Given the description of an element on the screen output the (x, y) to click on. 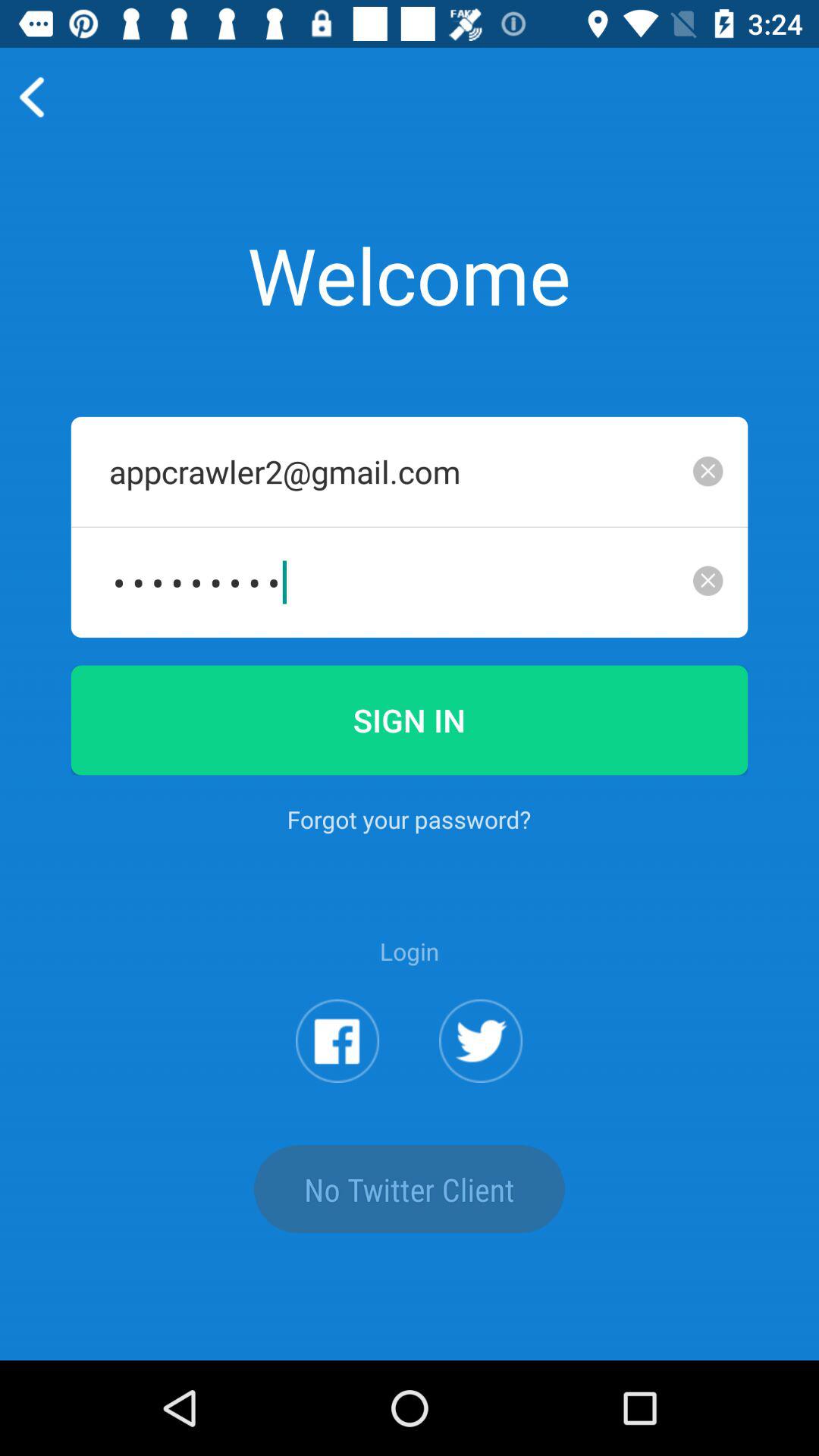
to click tweeter icon (480, 1040)
